Given the description of an element on the screen output the (x, y) to click on. 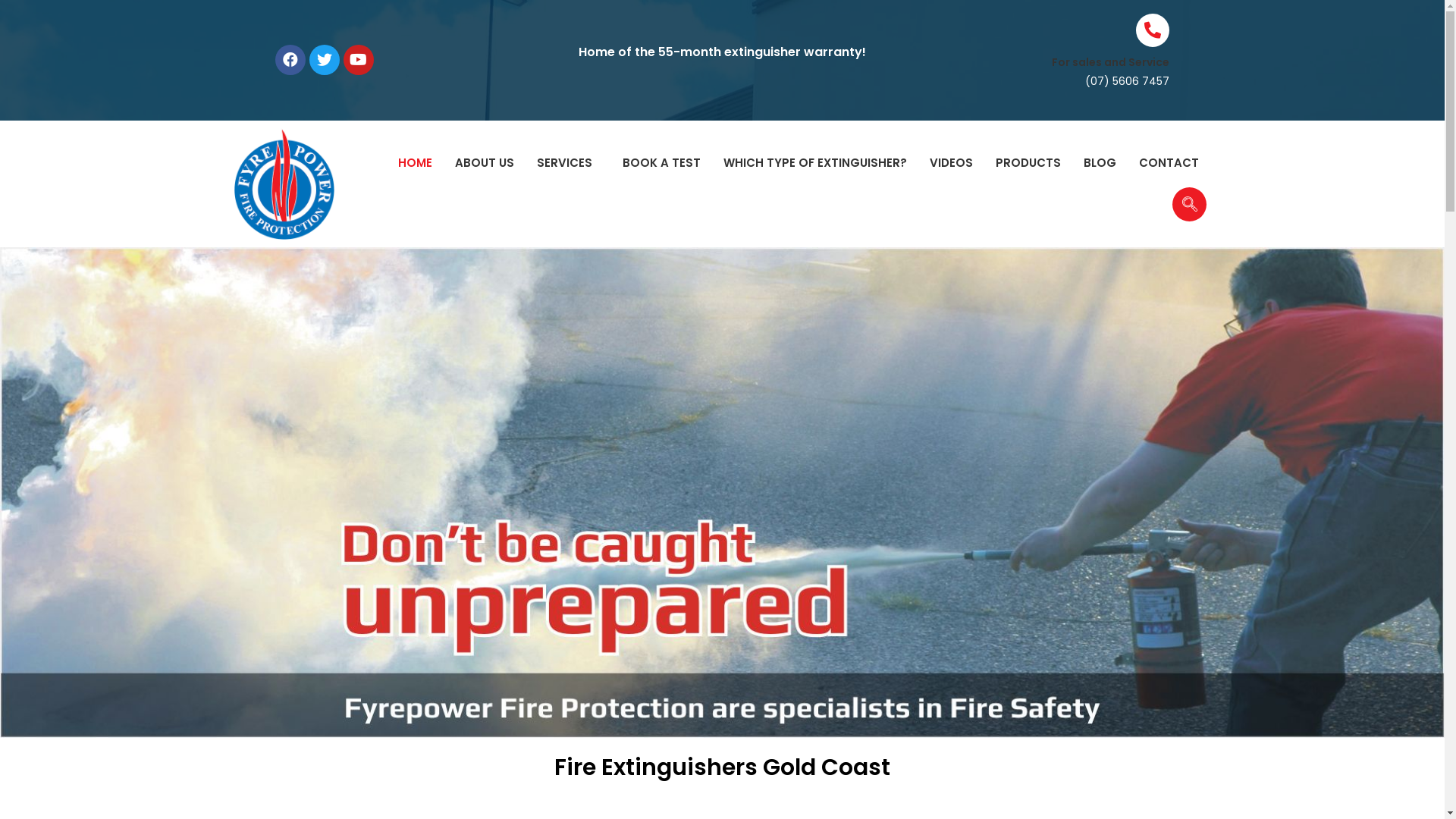
CONTACT Element type: text (1168, 162)
PRODUCTS Element type: text (1028, 162)
SERVICES Element type: text (568, 162)
new-logo Element type: hover (283, 184)
HOME Element type: text (414, 162)
WHICH TYPE OF EXTINGUISHER? Element type: text (815, 162)
VIDEOS Element type: text (951, 162)
For sales and Service Element type: text (1110, 61)
BLOG Element type: text (1099, 162)
BOOK A TEST Element type: text (661, 162)
ABOUT US Element type: text (484, 162)
